Given the description of an element on the screen output the (x, y) to click on. 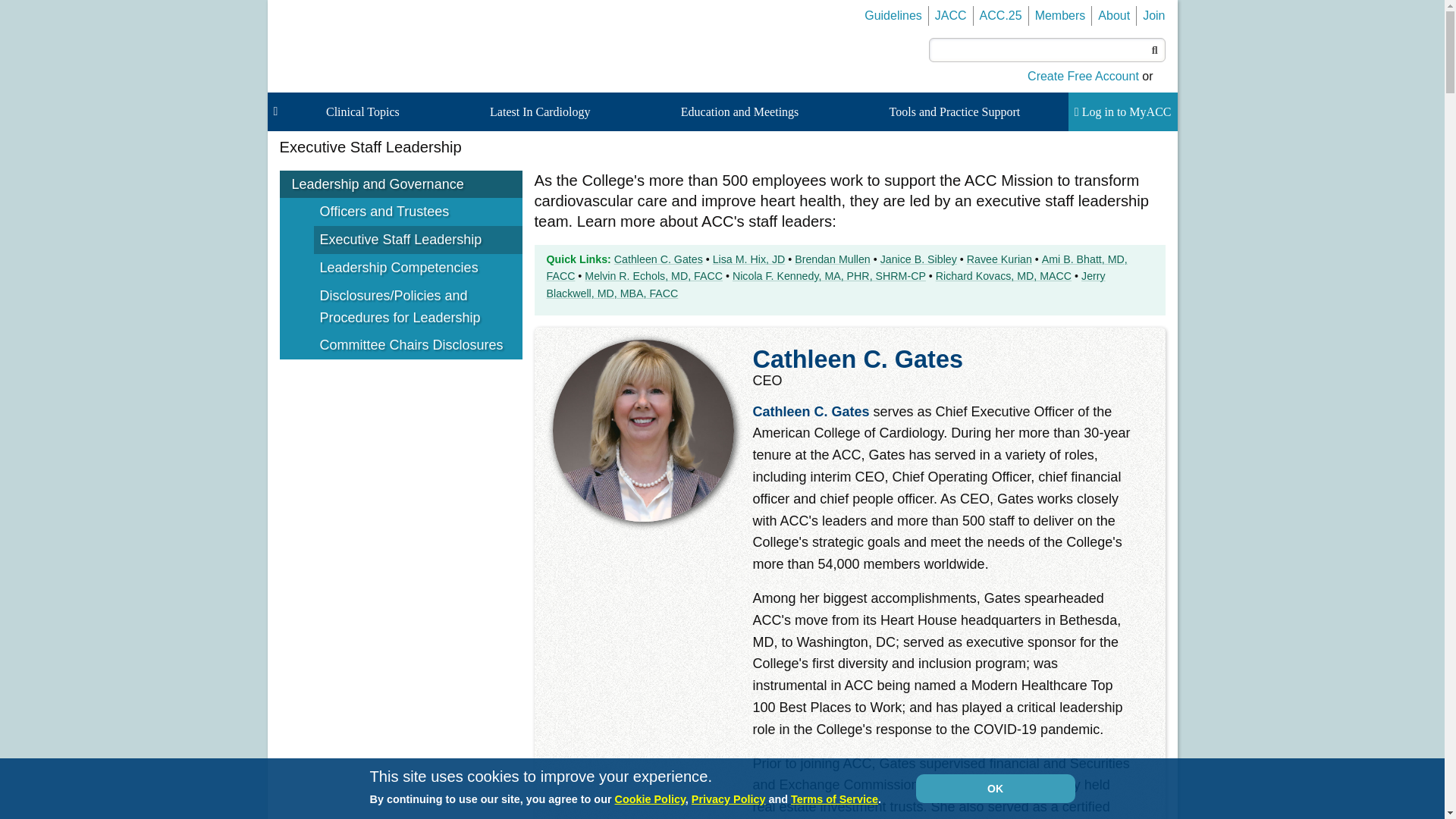
Members (1060, 15)
ACC.25 (1000, 15)
JACC.org (950, 15)
Join (1153, 15)
Clinical Topics (366, 111)
Create Free Account (1082, 75)
JACC (950, 15)
About (1113, 15)
Latest In Cardiology (542, 111)
Guidelines (892, 15)
ACC Annual Scientific Session (1000, 15)
